Given the description of an element on the screen output the (x, y) to click on. 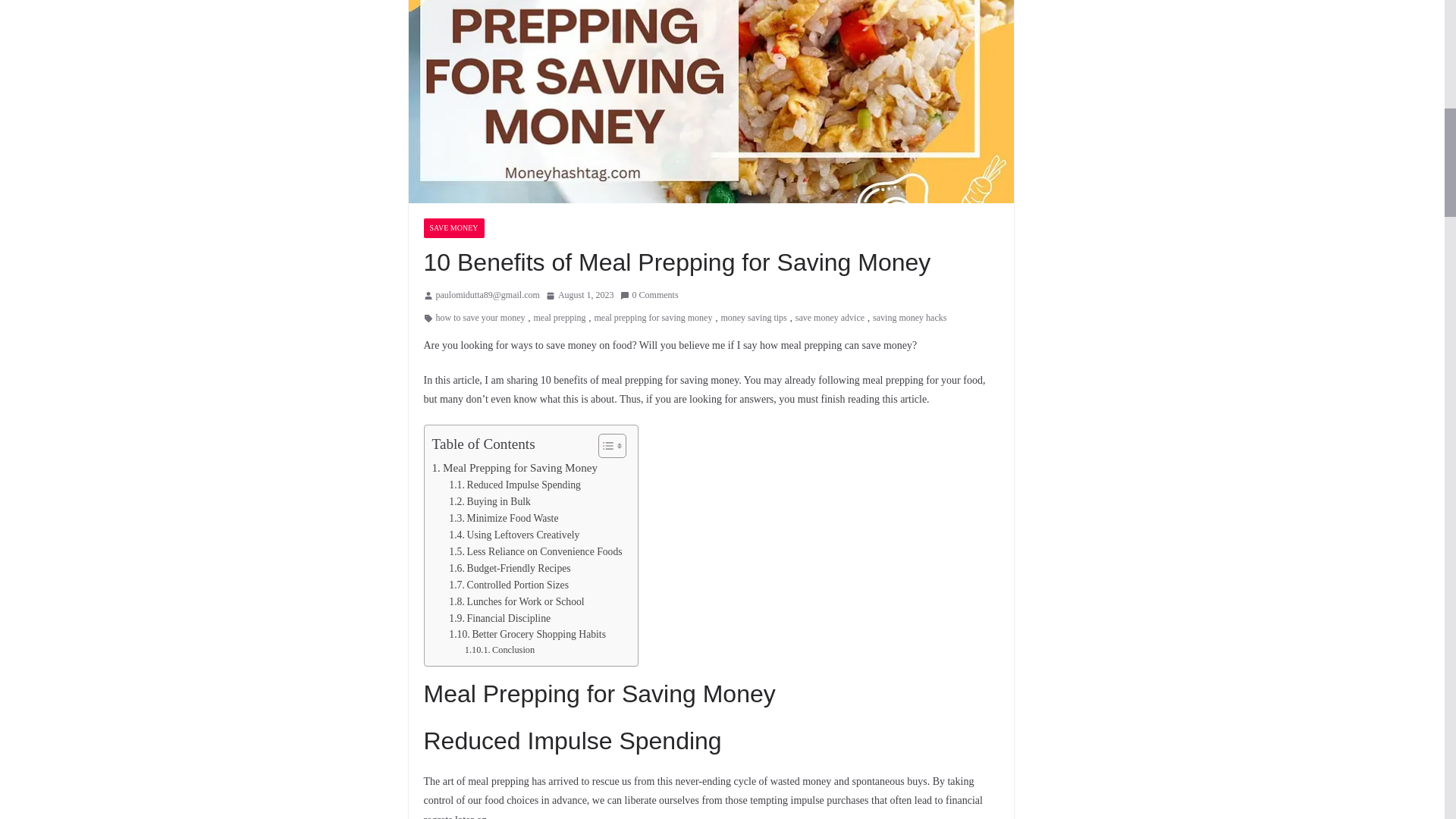
Lunches for Work or School (515, 601)
how to save your money (479, 318)
saving money hacks (909, 318)
save money advice (829, 318)
Financial Discipline (499, 618)
Reduced Impulse Spending (514, 484)
Meal Prepping for Saving Money (515, 467)
0 Comments (649, 295)
Buying in Bulk (489, 501)
Financial Discipline (499, 618)
Better Grocery Shopping Habits (526, 634)
Conclusion (499, 650)
Lunches for Work or School (515, 601)
Less Reliance on Convenience Foods (534, 551)
Reduced Impulse Spending (514, 484)
